Given the description of an element on the screen output the (x, y) to click on. 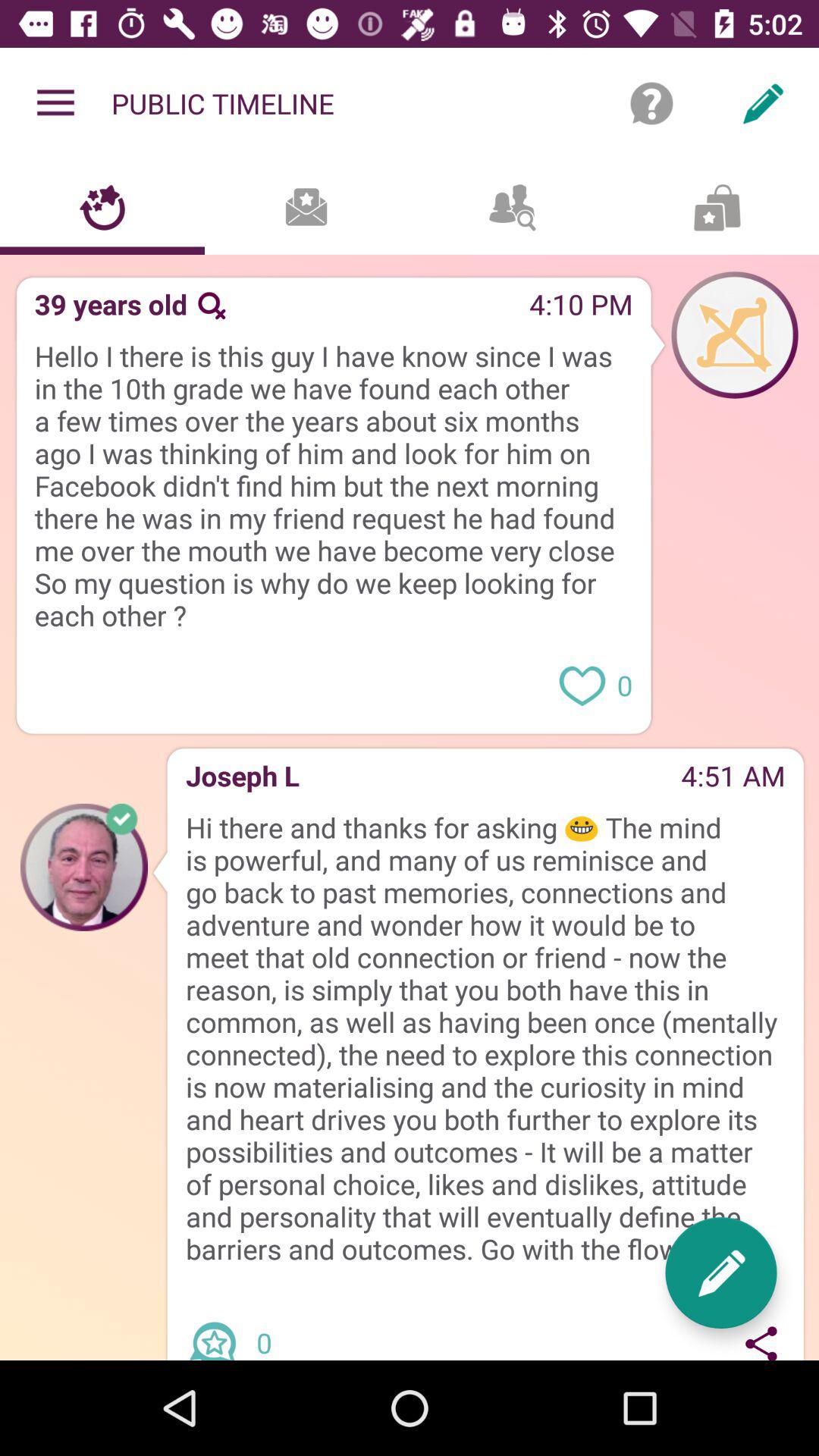
press item to the left of public timeline item (55, 103)
